Given the description of an element on the screen output the (x, y) to click on. 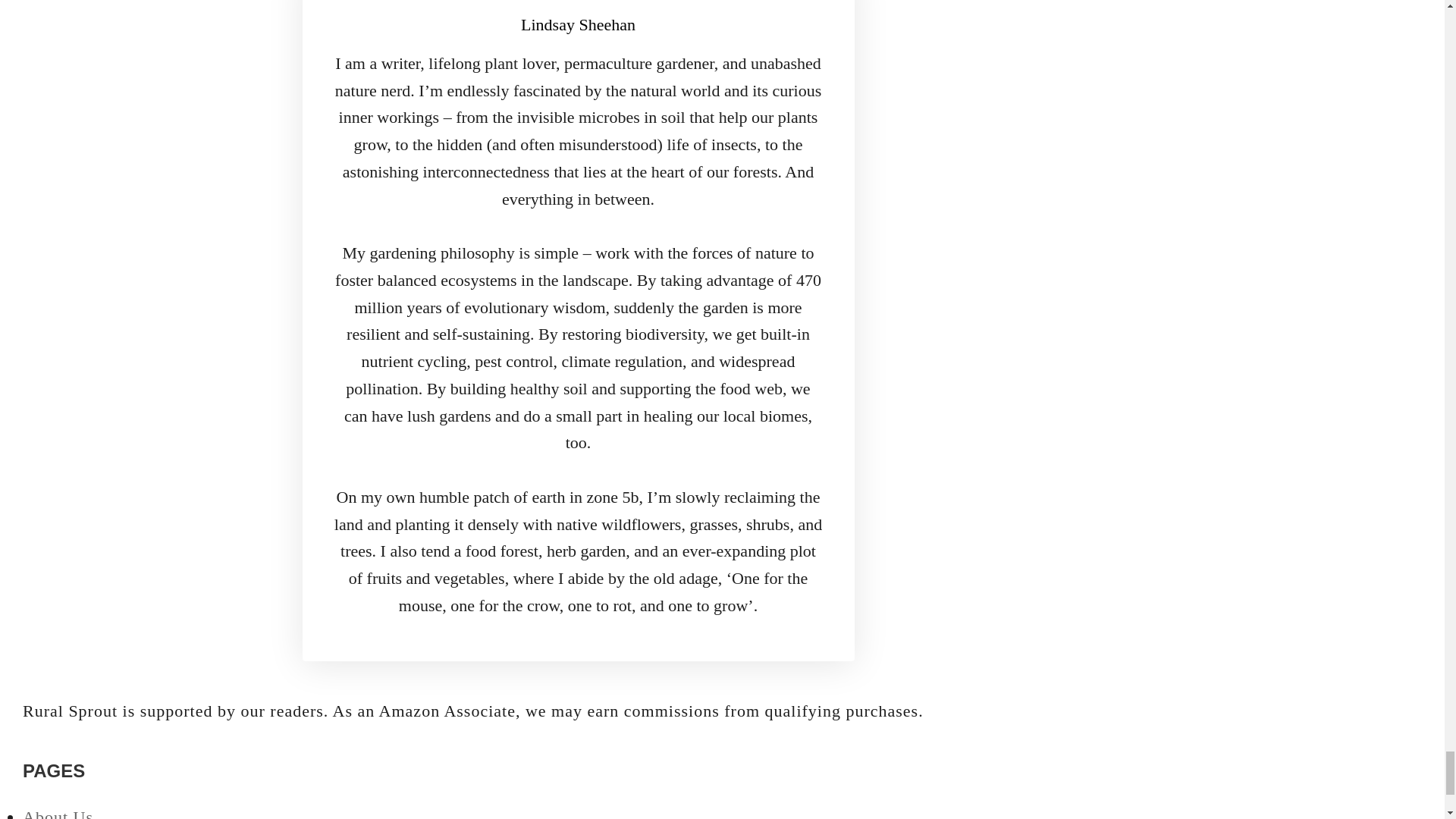
Lindsay Sheehan (577, 24)
